Given the description of an element on the screen output the (x, y) to click on. 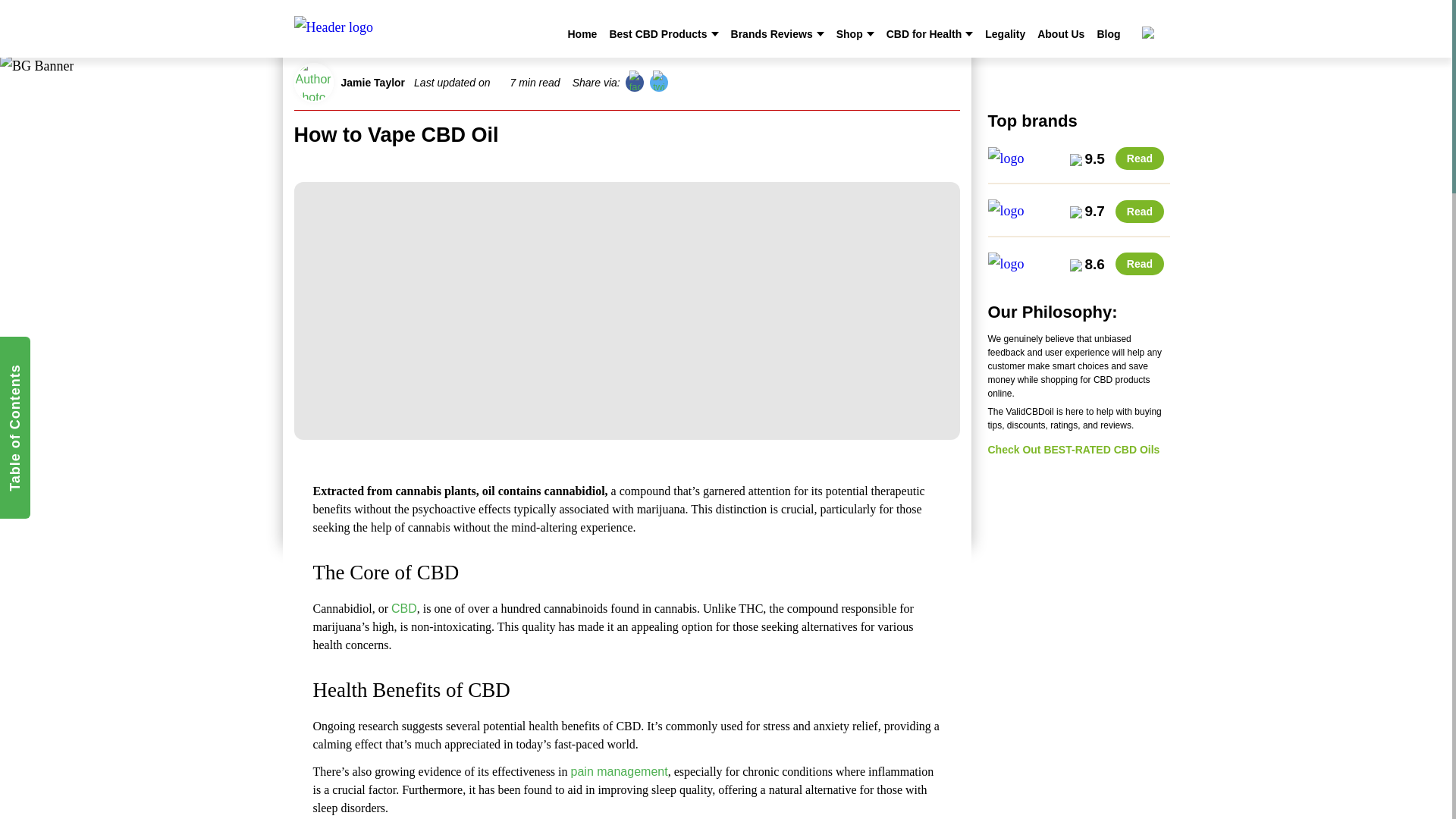
Brands Reviews (771, 33)
Best CBD Products (657, 33)
Home (581, 33)
CBD oil reviews (394, 30)
